Given the description of an element on the screen output the (x, y) to click on. 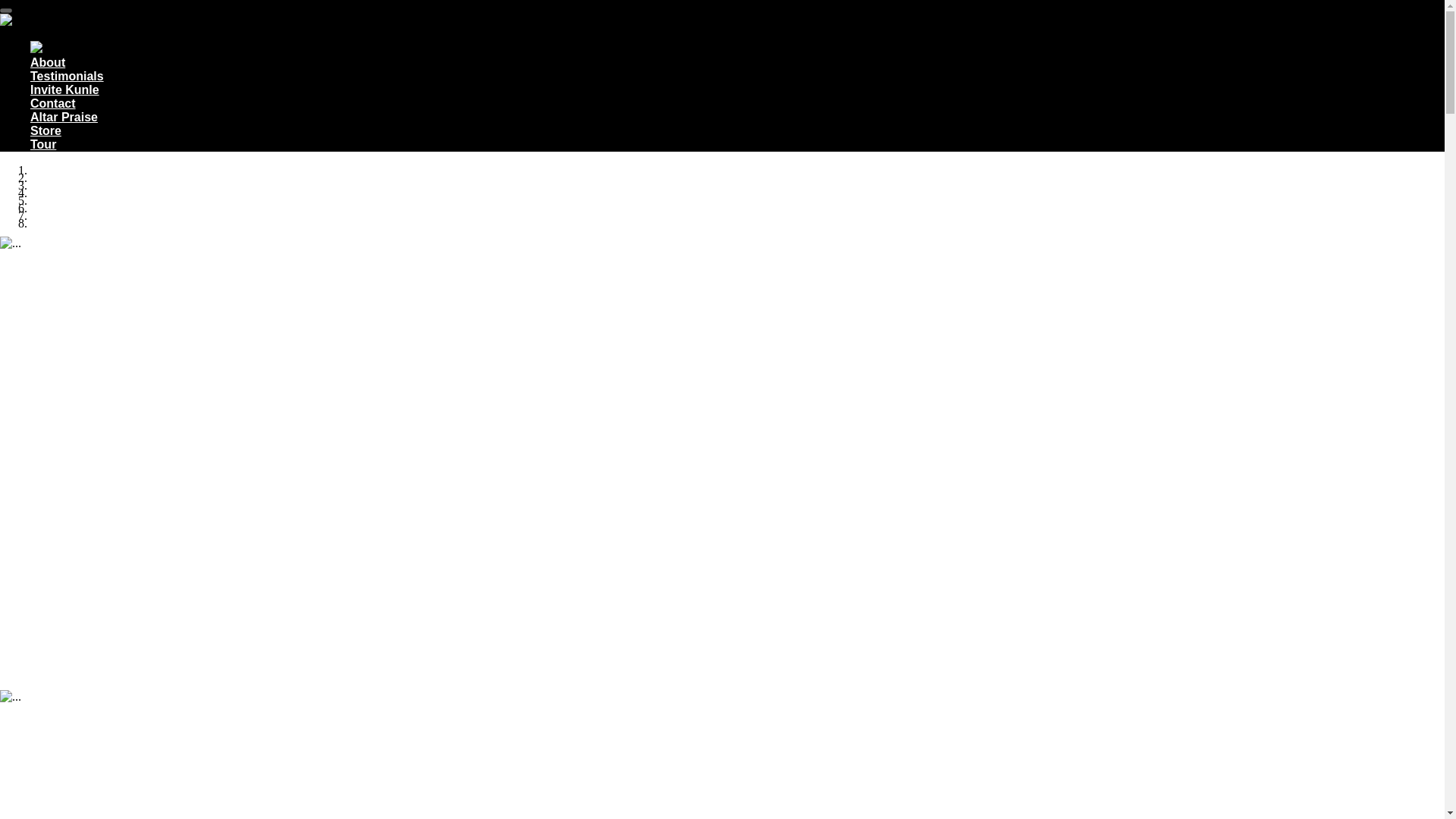
About (47, 62)
Store (45, 130)
Tour (43, 144)
Testimonials (66, 75)
Invite Kunle (64, 89)
Altar Praise (63, 116)
Contact (52, 103)
